Given the description of an element on the screen output the (x, y) to click on. 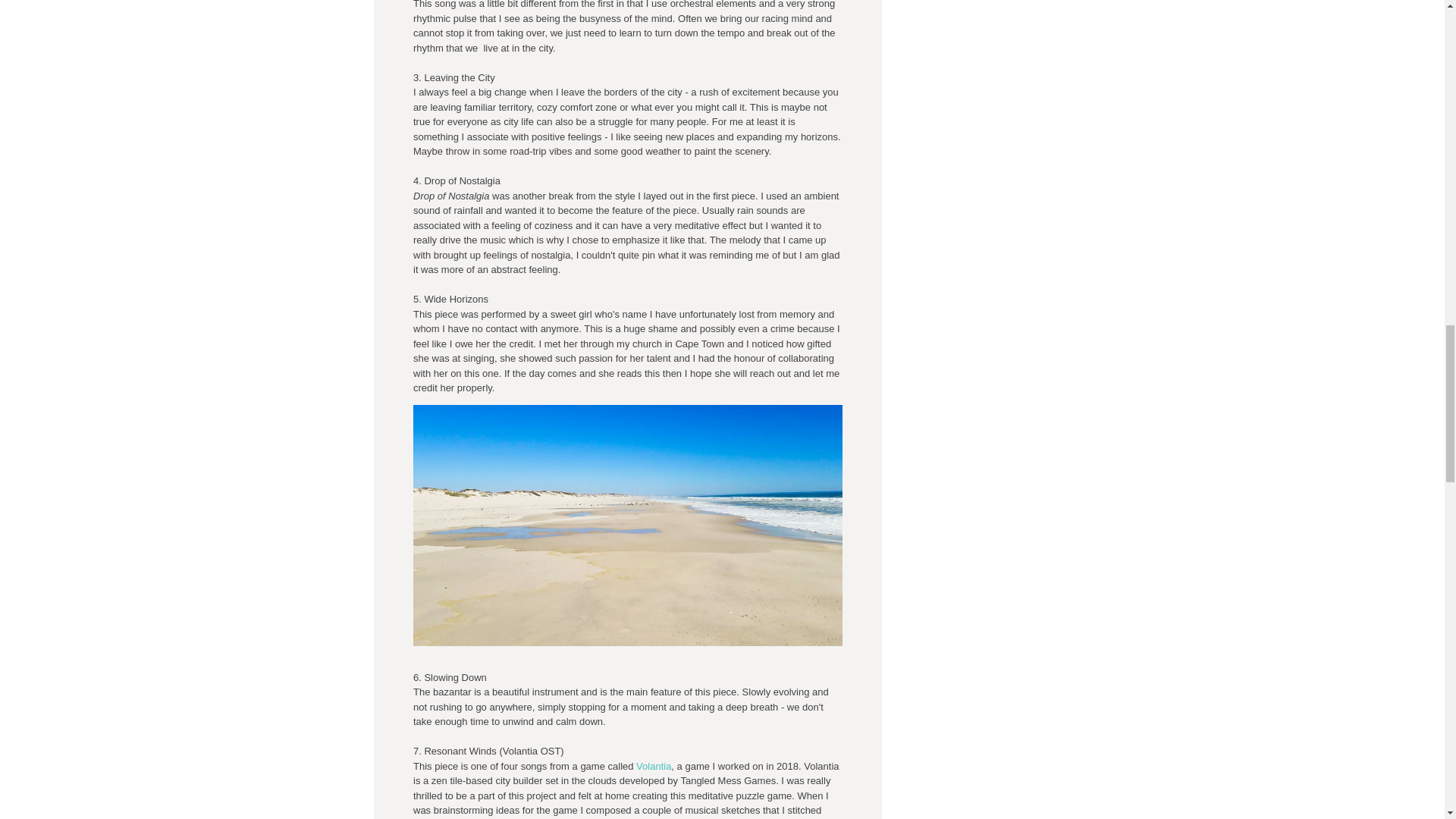
Volantia (653, 766)
